Given the description of an element on the screen output the (x, y) to click on. 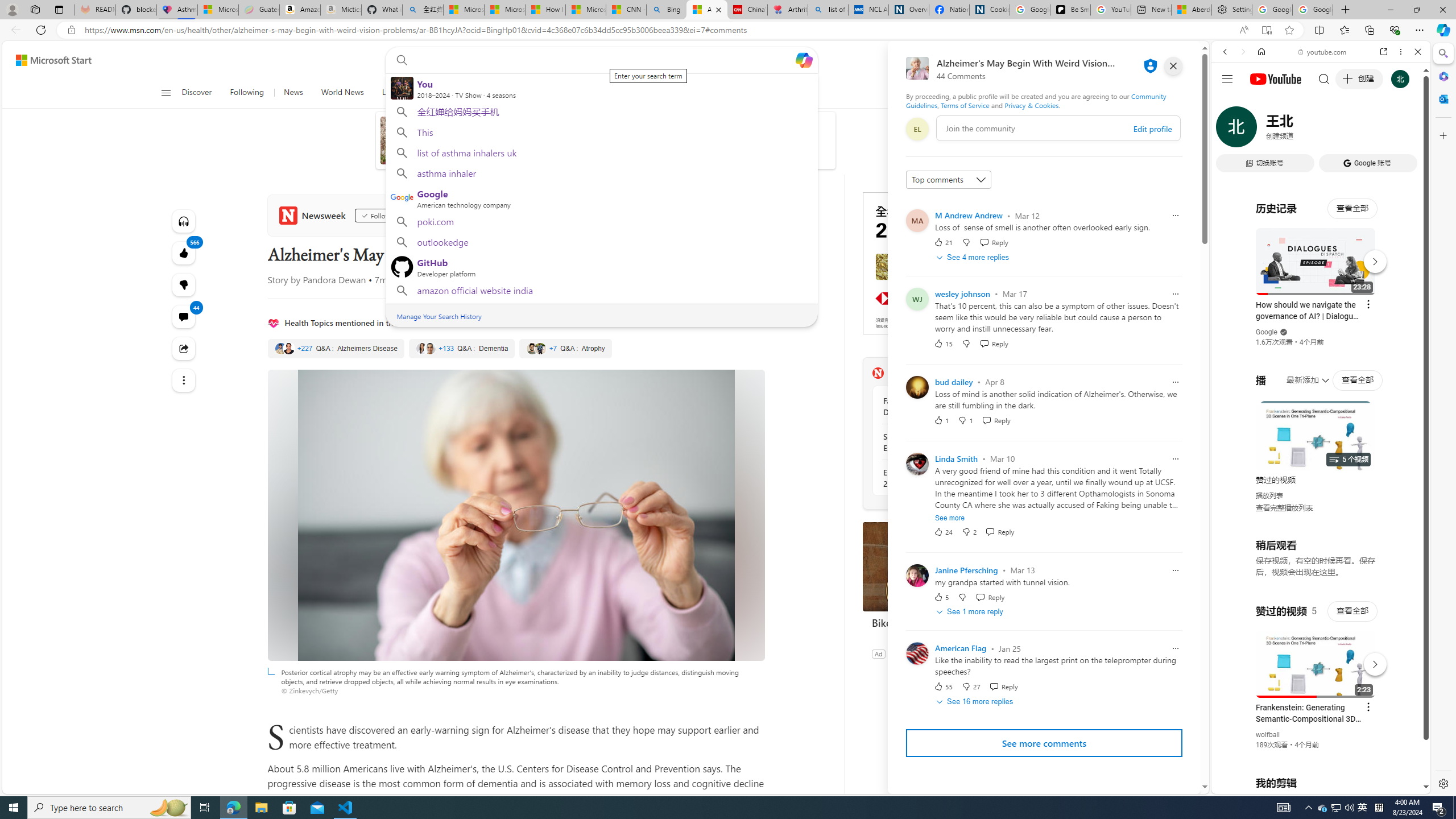
Entertainment (627, 92)
Google (1266, 331)
Search Filter, WEB (1230, 129)
Class: at-item (183, 380)
24 Like (942, 531)
Trailer #2 [HD] (1320, 336)
Politics (572, 92)
